Given the description of an element on the screen output the (x, y) to click on. 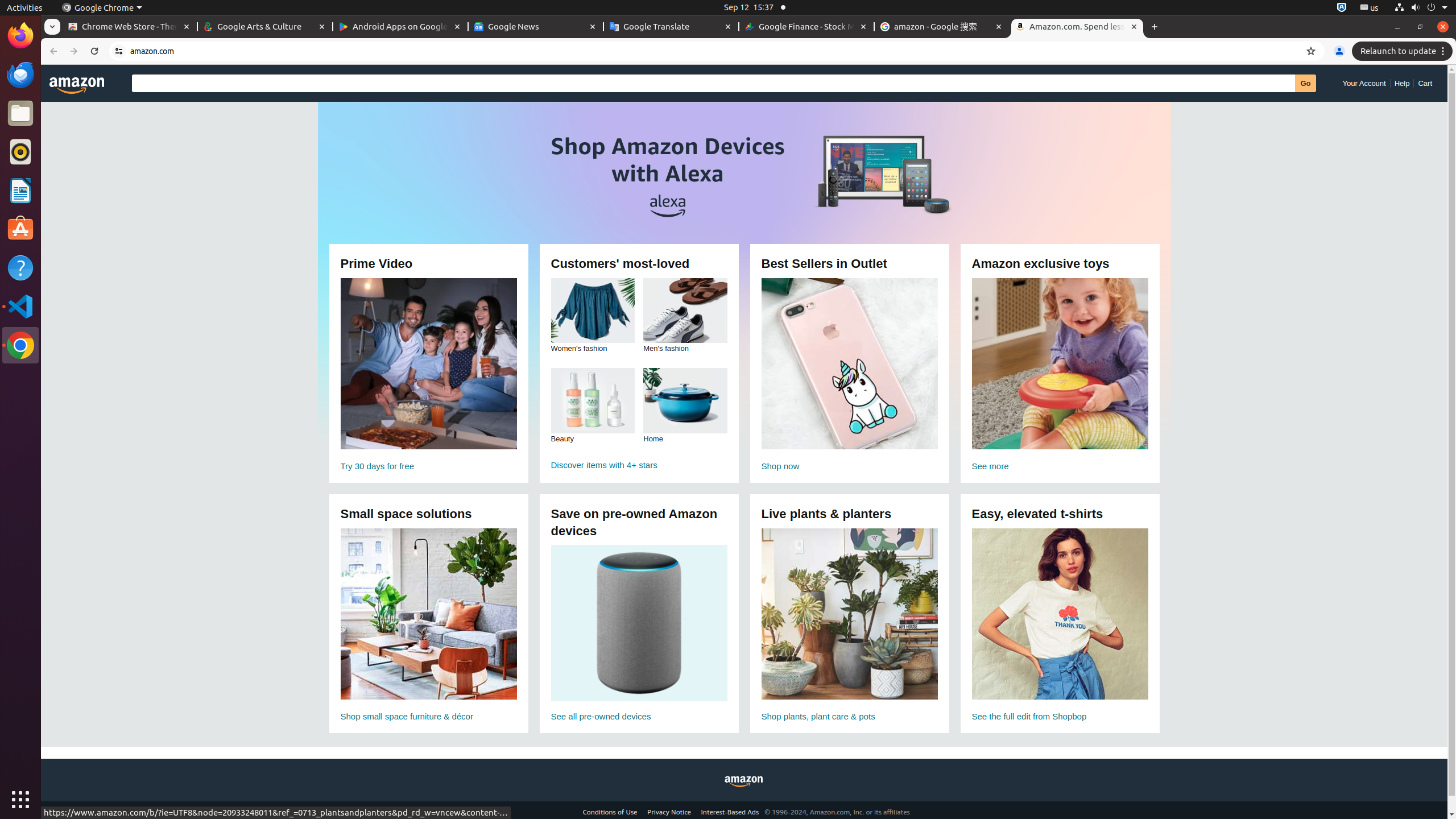
Ubuntu Software Element type: push-button (20, 229)
Cart Element type: link (1424, 83)
Privacy Notice Element type: link (668, 811)
Reload Element type: push-button (94, 50)
Thunderbird Mail Element type: push-button (20, 74)
